Given the description of an element on the screen output the (x, y) to click on. 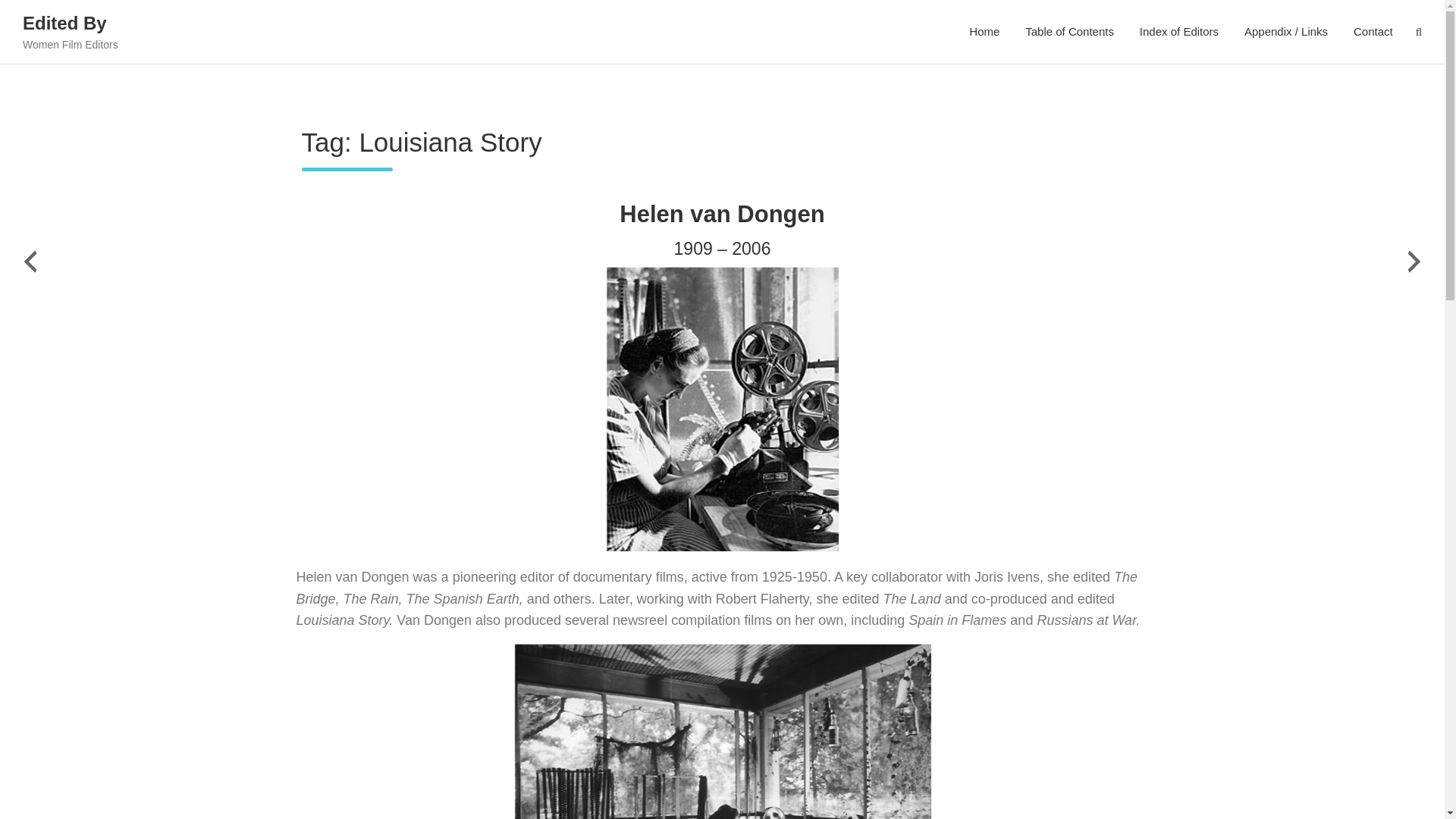
Table of Contents (1069, 31)
Contact (1373, 31)
Index of Editors (1179, 31)
Edited By (64, 23)
